Given the description of an element on the screen output the (x, y) to click on. 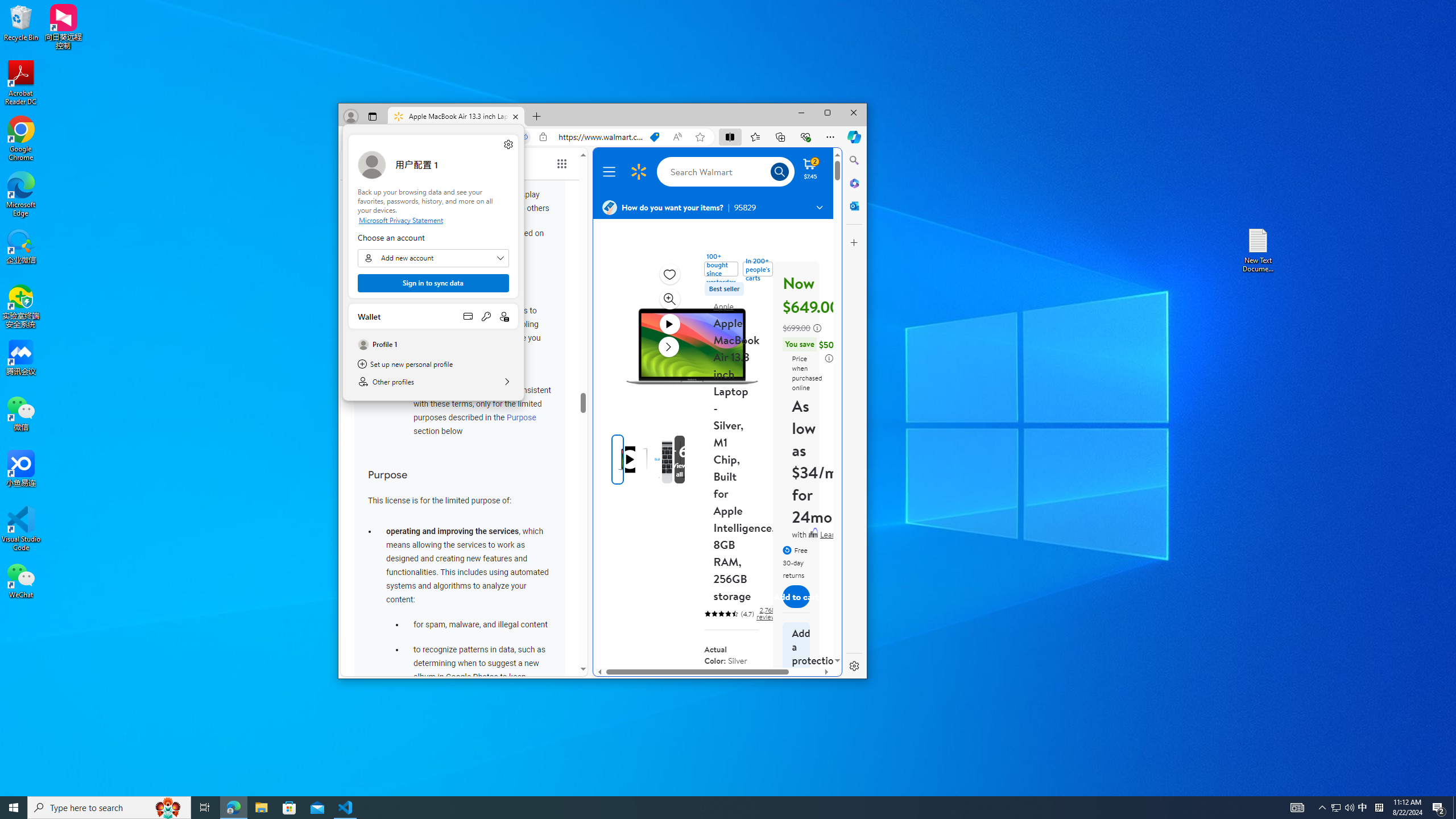
Silver selected, Silver, $649.00 (744, 692)
Gold (716, 684)
Microsoft Edge - 1 running window (233, 807)
learn more about strikethrough prices (817, 328)
Open personal info (504, 316)
Gold, $649.00 (715, 692)
next media item (668, 346)
Wallet (432, 315)
Side bar (853, 413)
Search highlights icon opens search home window (167, 807)
Notification Chevron (1335, 807)
Visual Studio Code - 1 running window (1322, 807)
Free 30-day returns (345, 807)
